Given the description of an element on the screen output the (x, y) to click on. 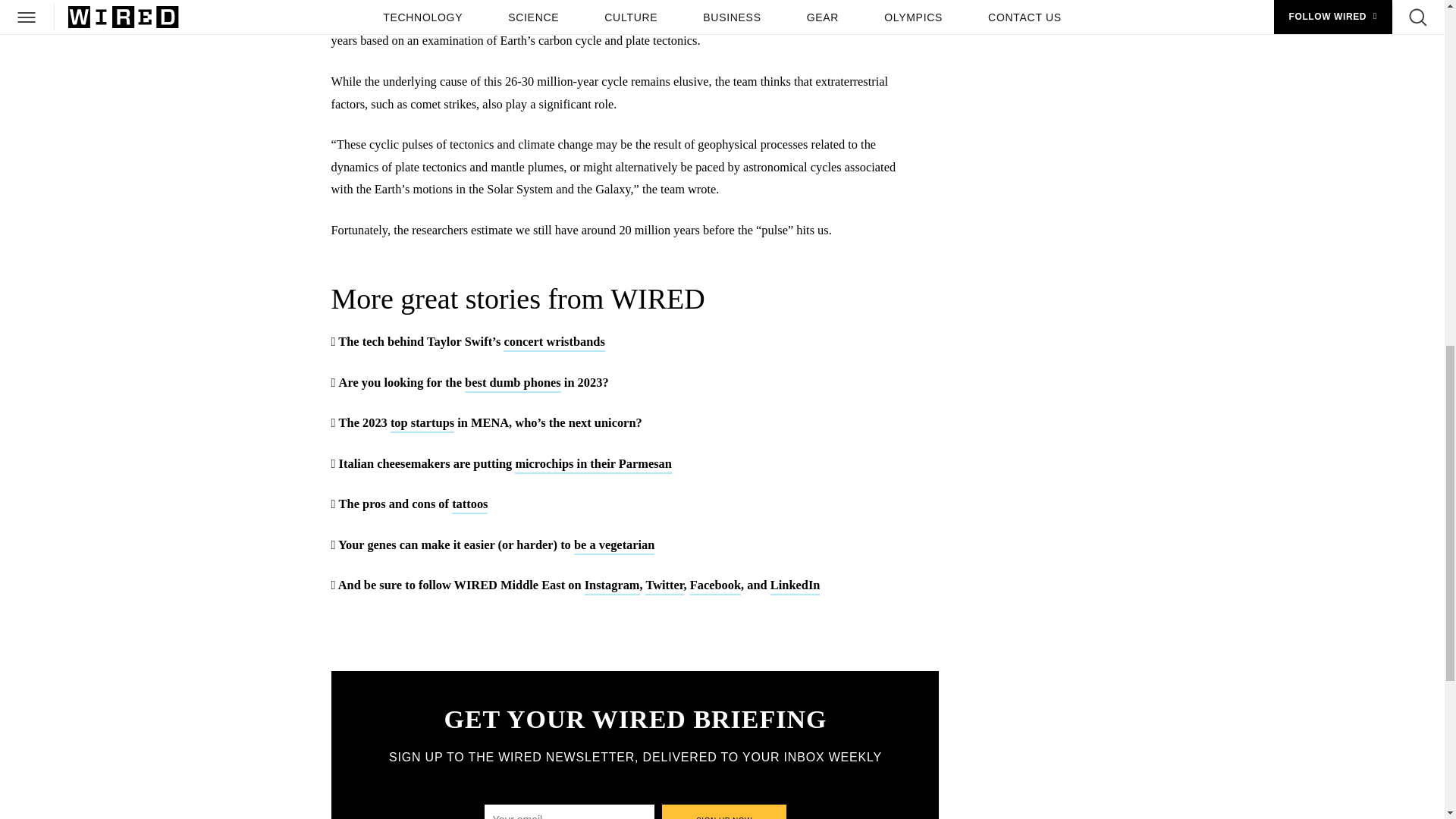
Facebook (715, 586)
be a vegetarian (614, 546)
Twitter (663, 586)
Sign up now (724, 811)
concert wristbands (553, 343)
Instagram (612, 586)
2018 study (476, 19)
LinkedIn (795, 586)
microchips in their Parmesan (593, 465)
tattoos (469, 505)
